Given the description of an element on the screen output the (x, y) to click on. 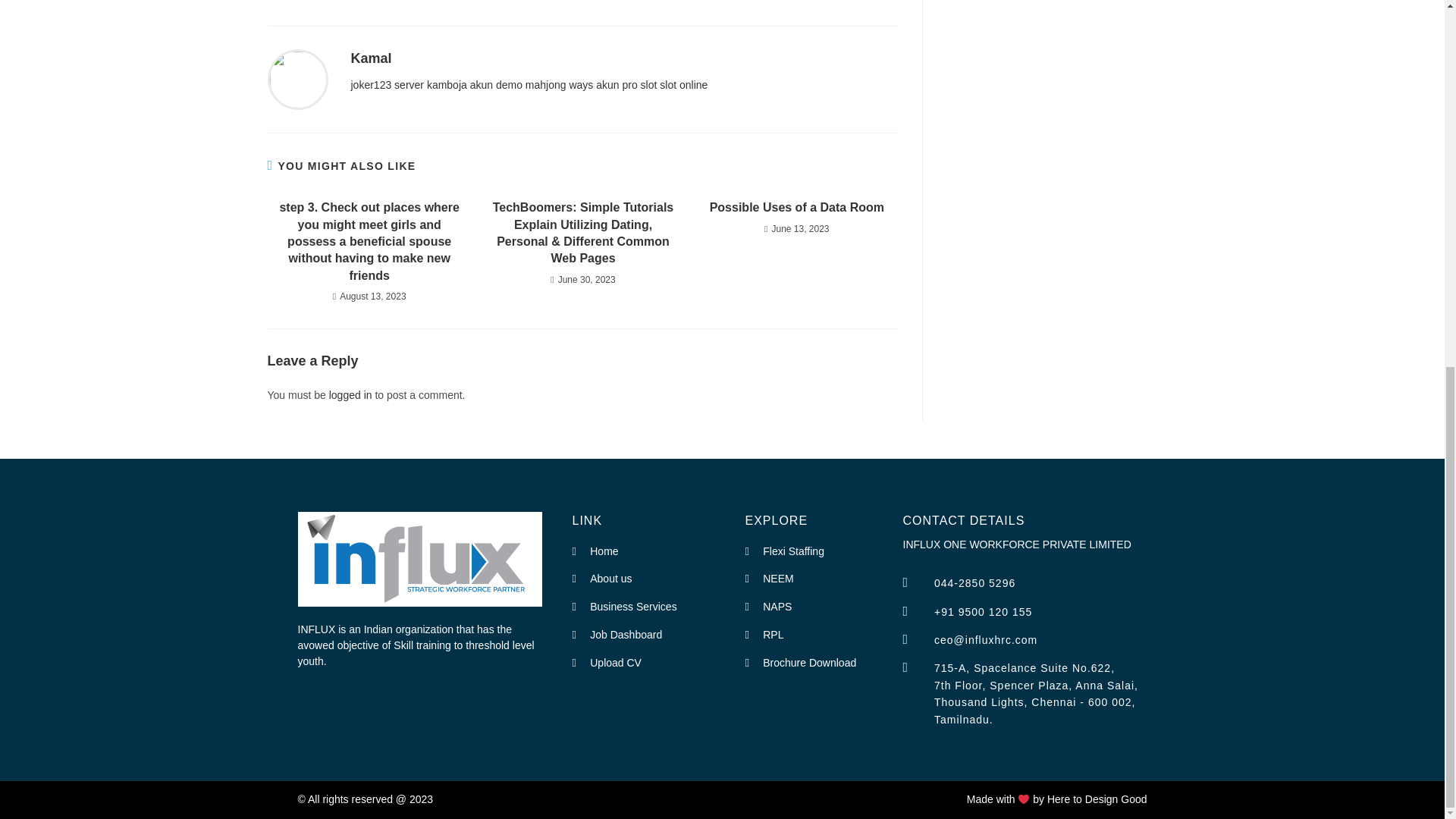
server kamboja (430, 84)
Kamal (370, 58)
Visit Author Page (370, 58)
Visit Author Page (296, 78)
akun demo (496, 84)
joker123 (370, 84)
Possible Uses of a Data Room (796, 207)
